Given the description of an element on the screen output the (x, y) to click on. 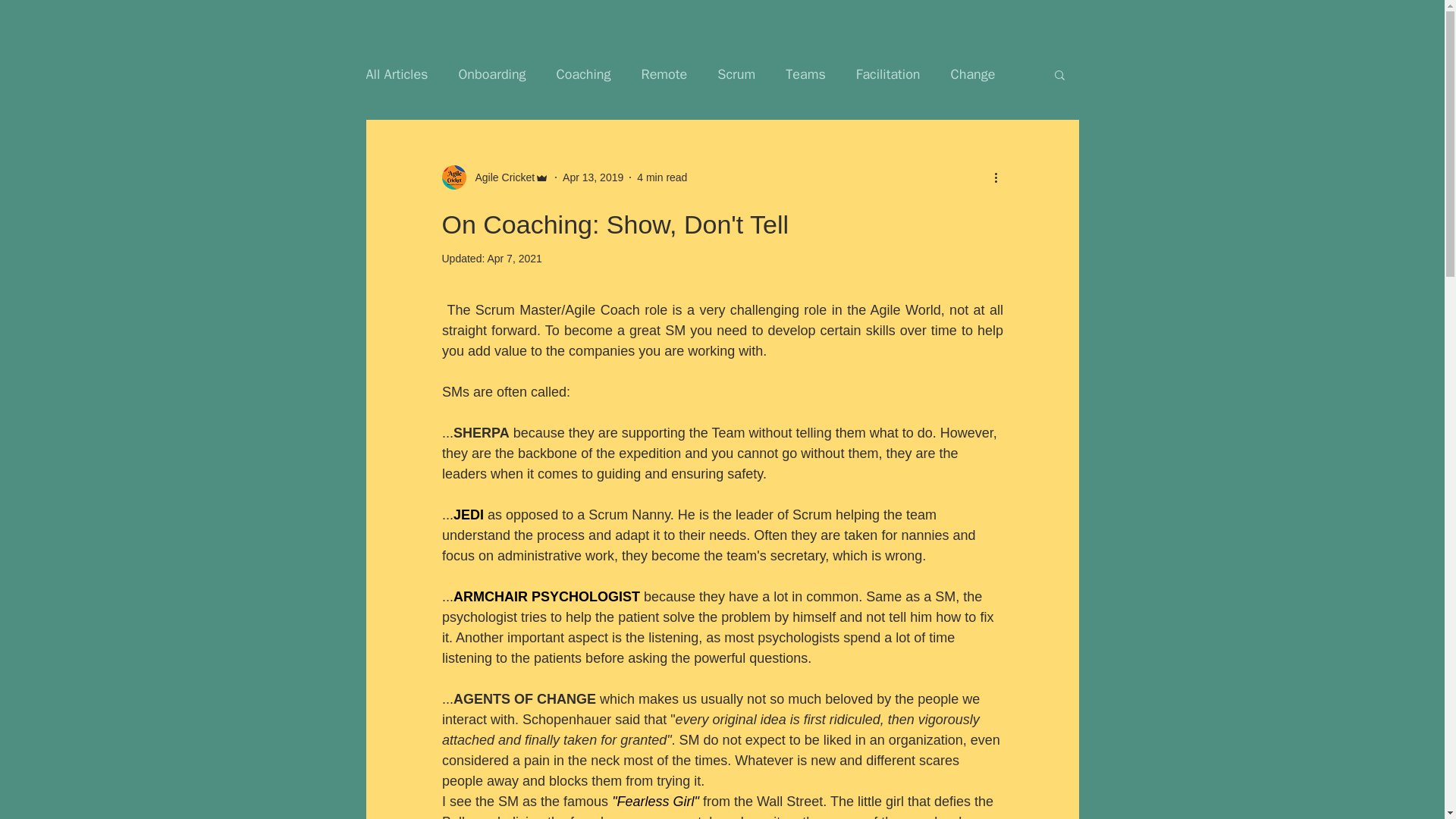
"Fearless Girl" (654, 801)
4 min read (662, 177)
Remote (664, 74)
Onboarding (491, 74)
JEDI (467, 514)
All Articles (396, 74)
Change (972, 74)
Coaching (583, 74)
Teams (805, 74)
Facilitation (888, 74)
